Given the description of an element on the screen output the (x, y) to click on. 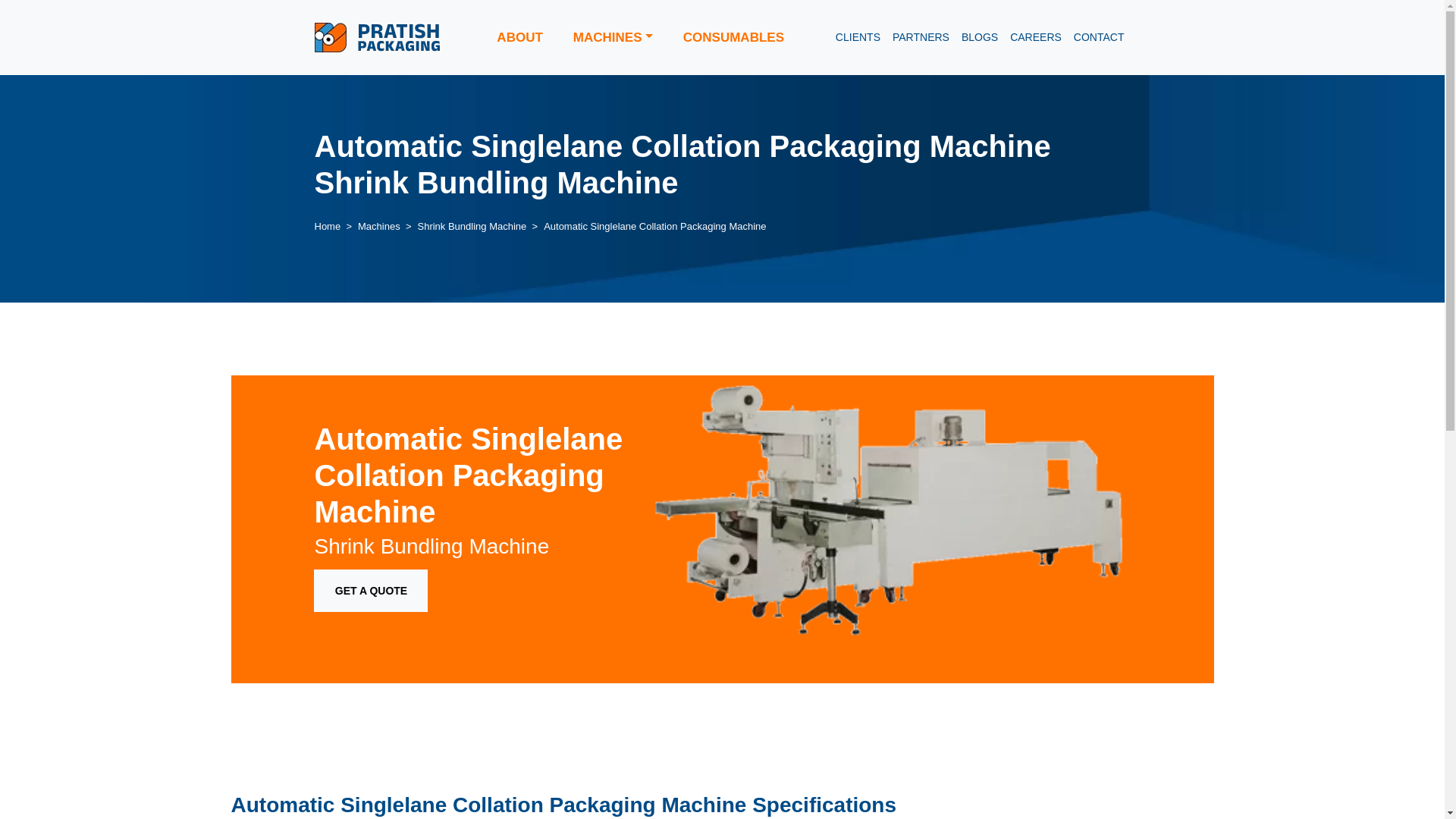
ABOUT (519, 38)
CONSUMABLES (733, 38)
MACHINES (612, 38)
Pratish Packaging (376, 37)
CONTACT (1099, 37)
BLOGS (979, 37)
CAREERS (1035, 37)
Shrink Bundling Machine (470, 225)
CLIENTS (857, 37)
Machines (379, 225)
